Given the description of an element on the screen output the (x, y) to click on. 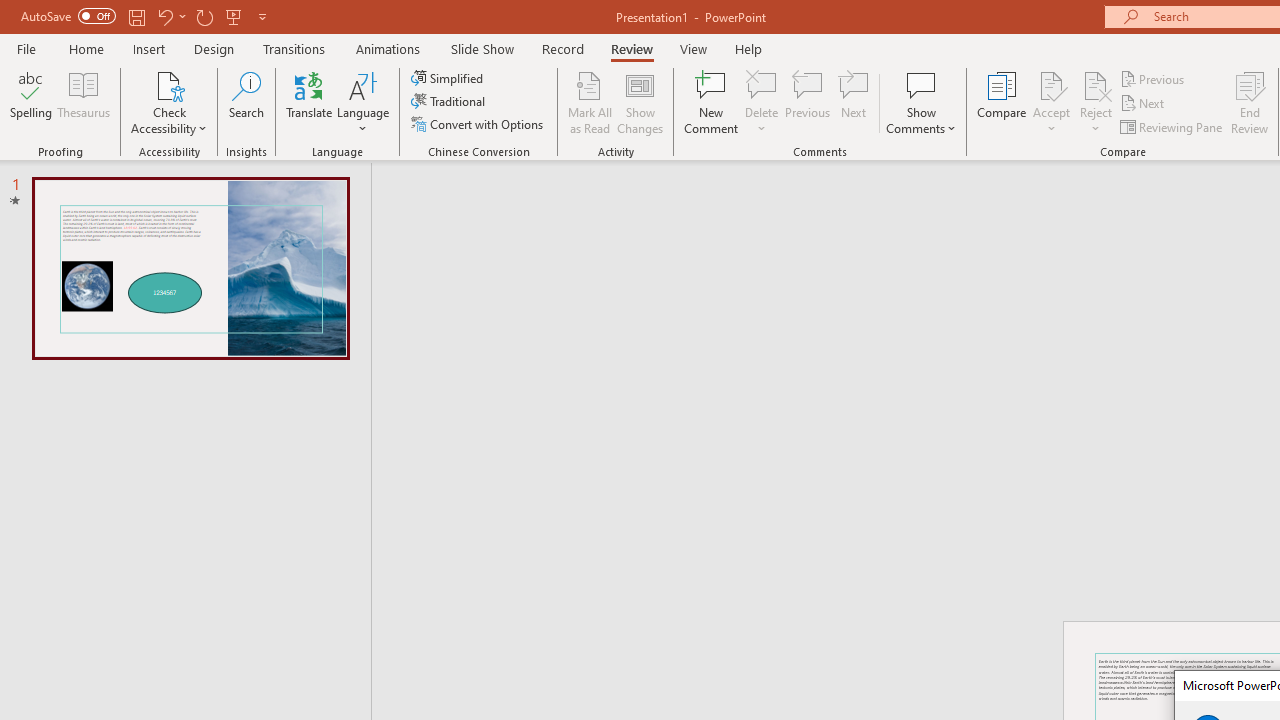
Compare (1002, 102)
